Given the description of an element on the screen output the (x, y) to click on. 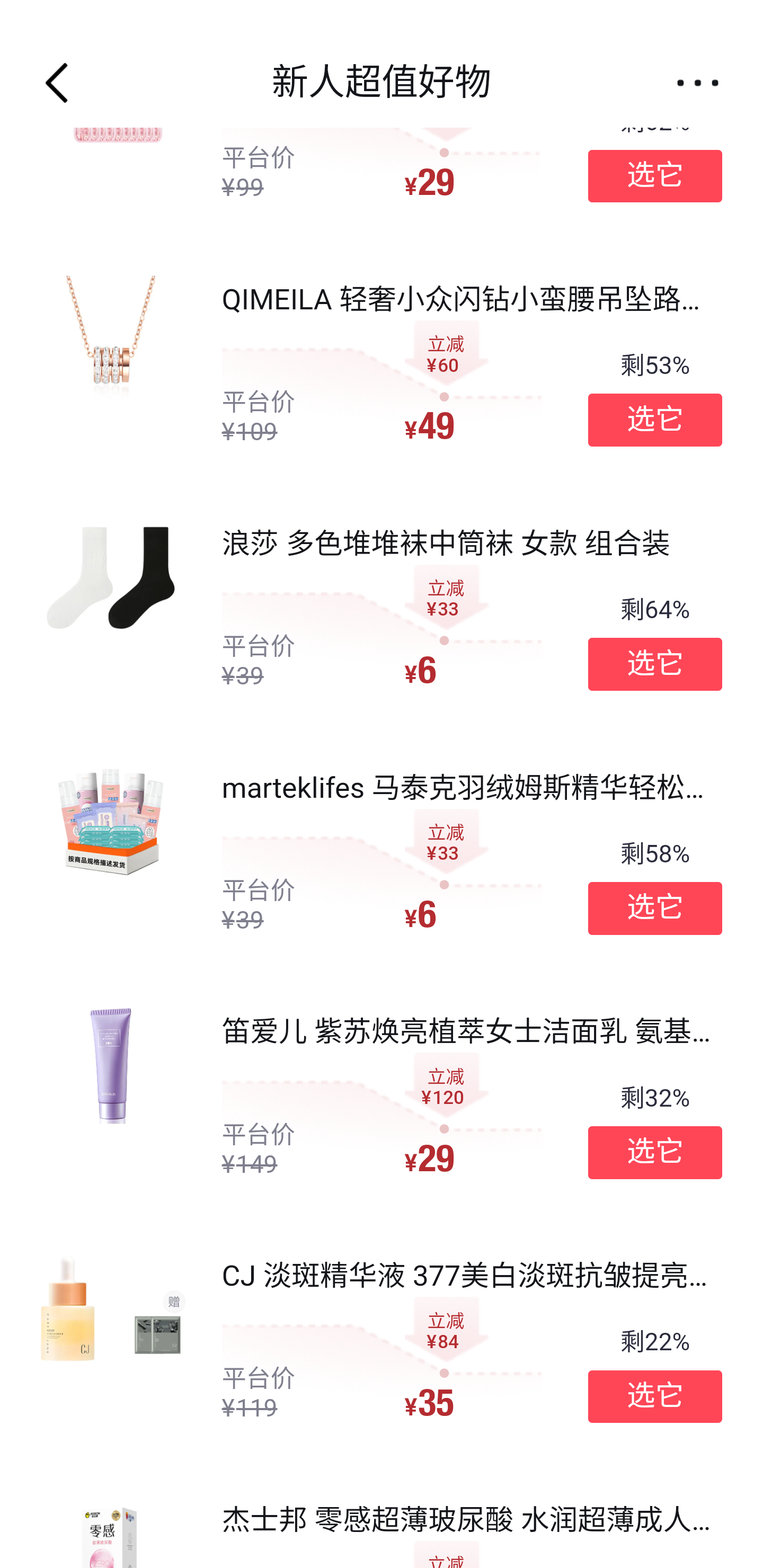
选它 (654, 175)
选它 (654, 420)
浪莎 多色堆堆袜中筒袜 女款 组合装 平台价 ¥ 39 立减¥33 ¥ 6 剩64% 选它 (381, 609)
选它 (654, 663)
选它 (654, 907)
选它 (654, 1152)
选它 (654, 1396)
杰士邦 零感超薄玻尿酸 水润超薄成人用品 情趣用品面膜级 不油腻 易清洗 避孕套 16只 剩24% (381, 1515)
